Given the description of an element on the screen output the (x, y) to click on. 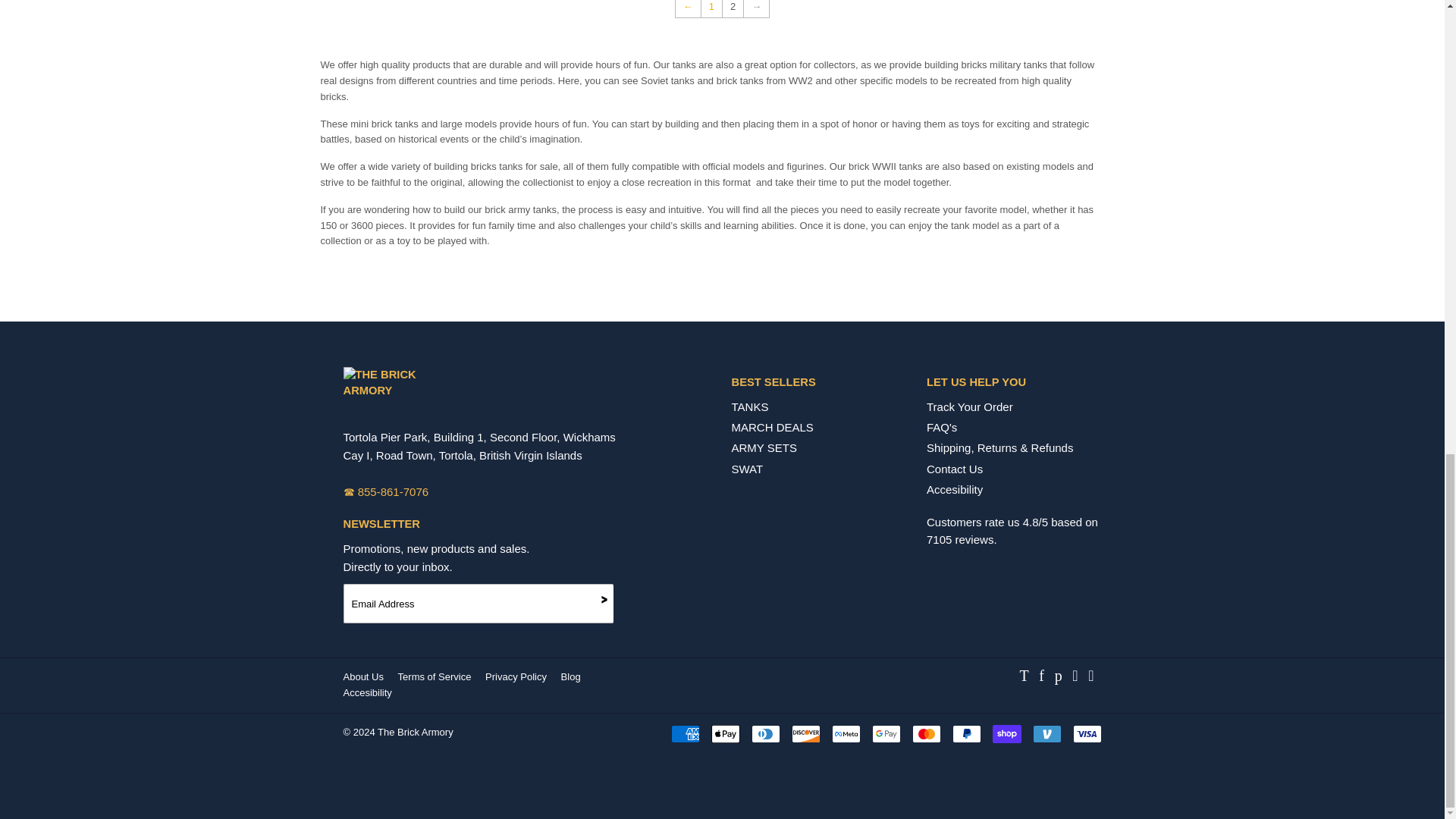
Call Us (385, 491)
Meta Pay (845, 733)
Google Pay (886, 733)
American Express (683, 733)
Discover (806, 733)
Shop Pay (1005, 733)
PayPal (966, 733)
Venmo (1046, 733)
Diners Club (764, 733)
Apple Pay (725, 733)
